Given the description of an element on the screen output the (x, y) to click on. 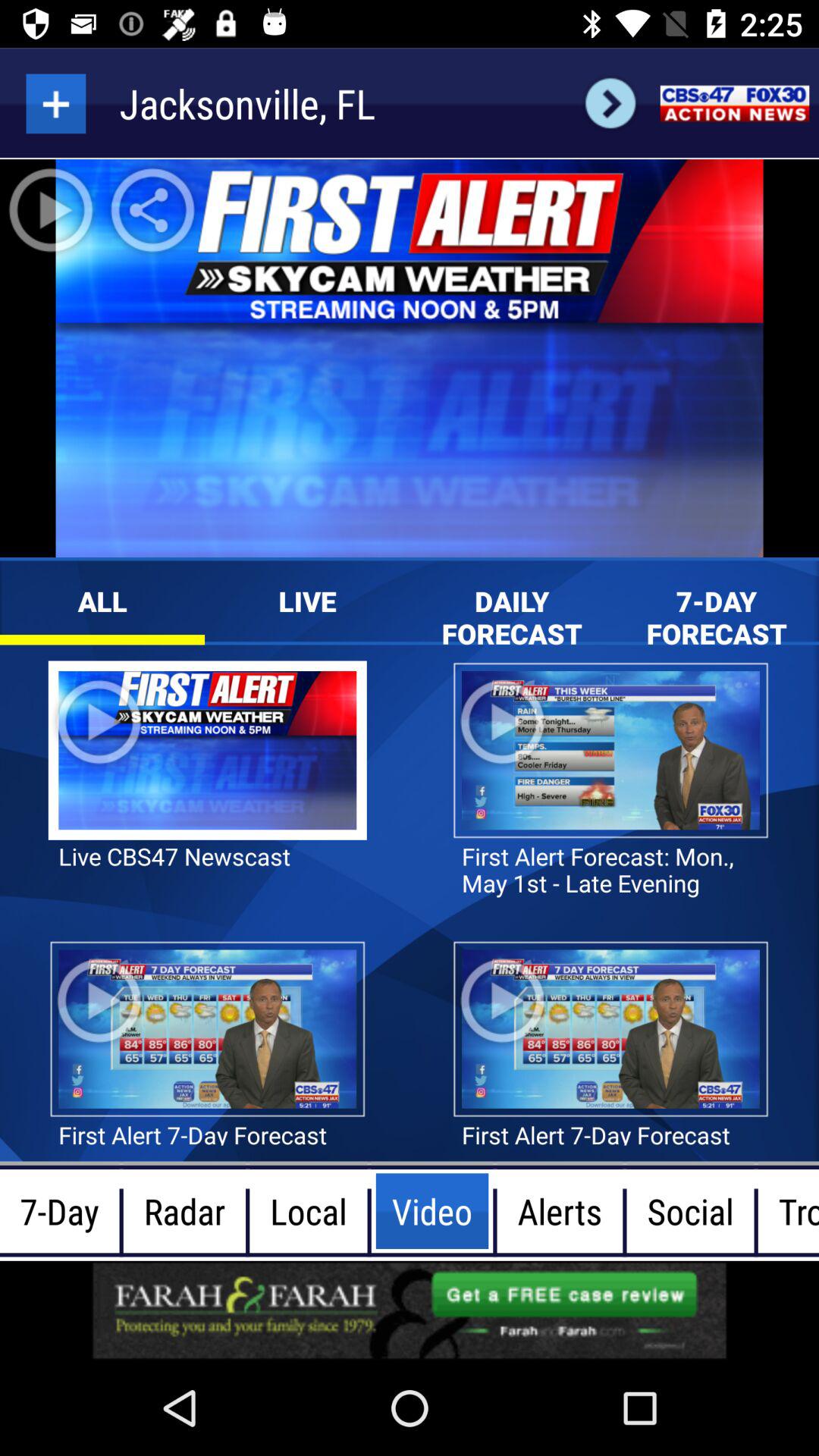
share the article (409, 1310)
